Given the description of an element on the screen output the (x, y) to click on. 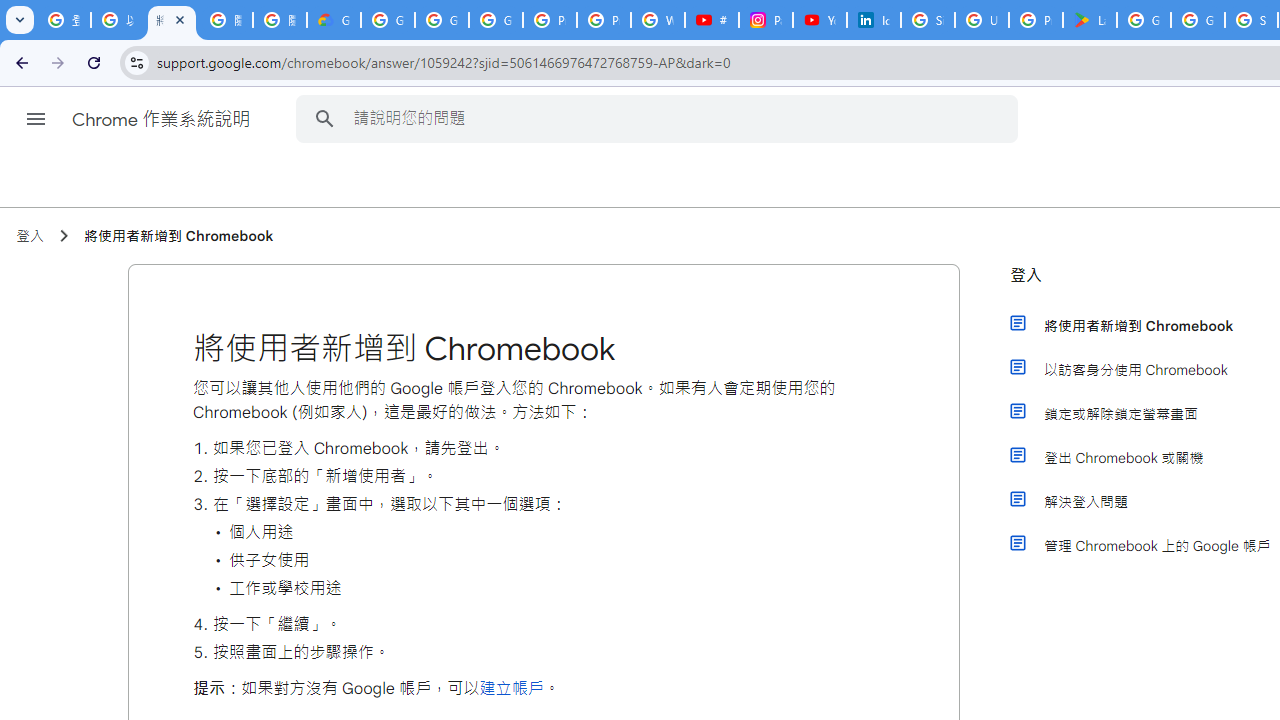
Google Workspace - Specific Terms (1197, 20)
YouTube Culture & Trends - On The Rise: Handcam Videos (819, 20)
Identity verification via Persona | LinkedIn Help (874, 20)
#nbabasketballhighlights - YouTube (711, 20)
